Given the description of an element on the screen output the (x, y) to click on. 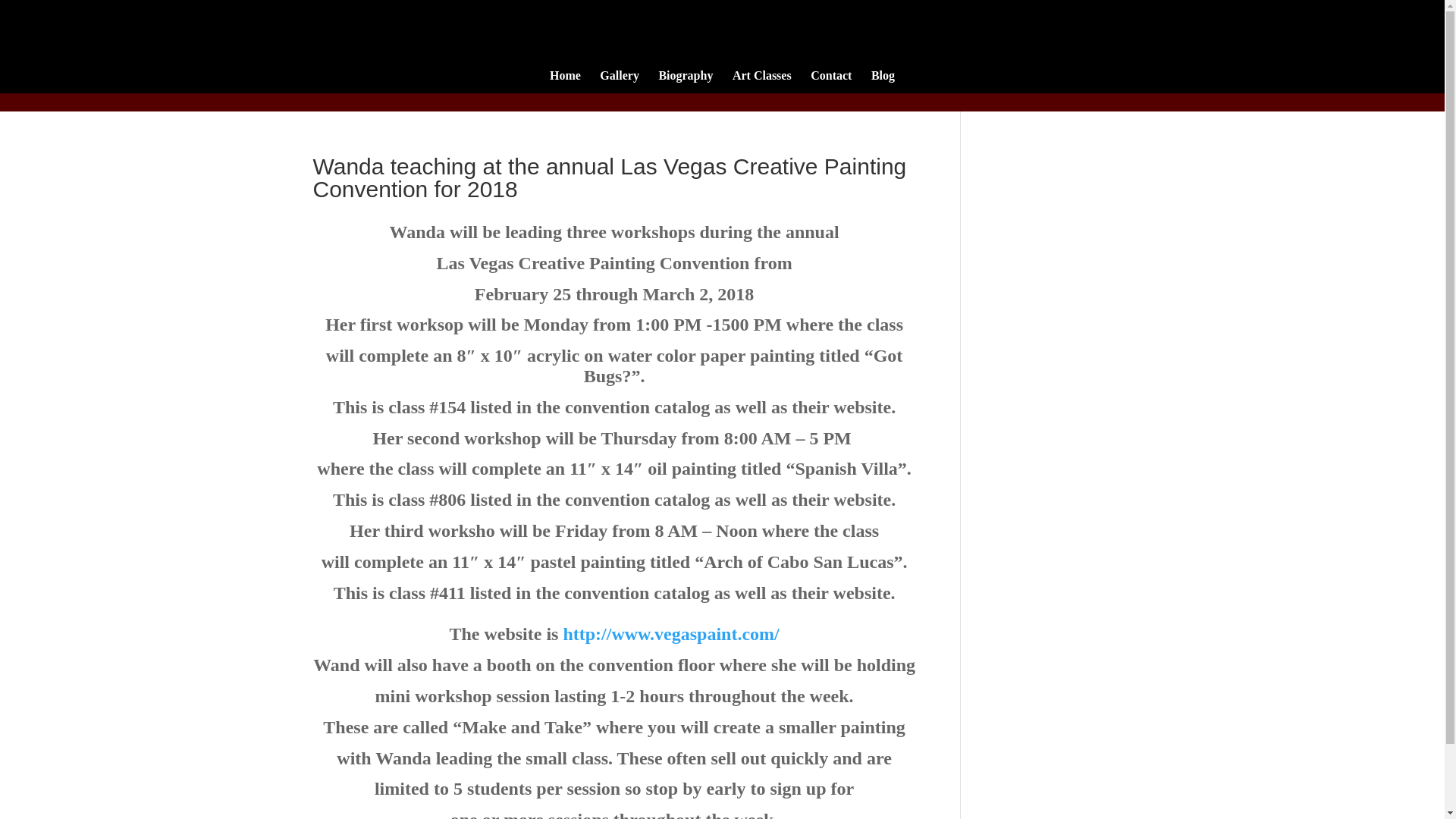
Gallery (619, 81)
Contact (830, 81)
Home (565, 81)
Art Classes (762, 81)
Biography (685, 81)
Blog (882, 81)
